Given the description of an element on the screen output the (x, y) to click on. 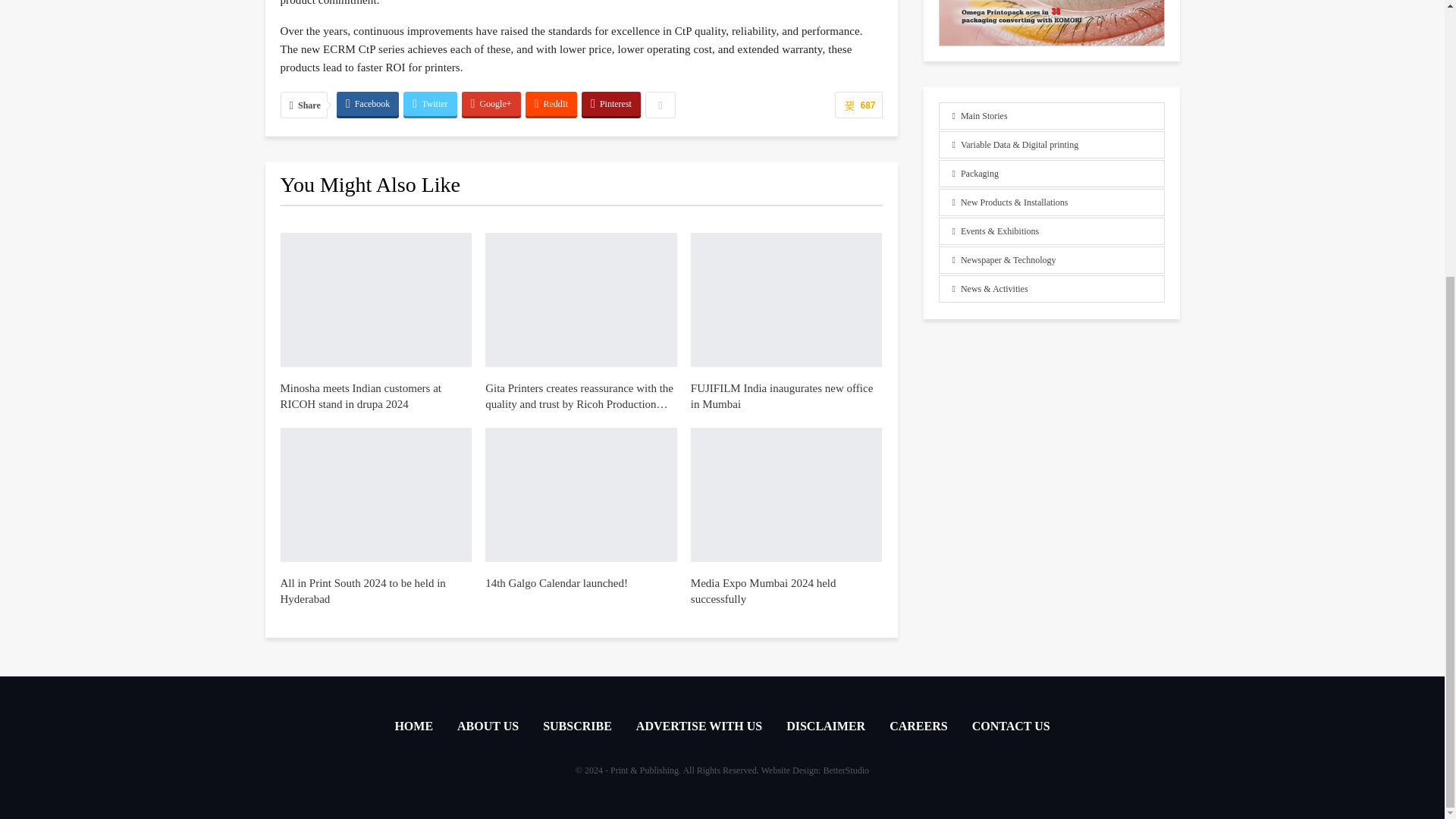
14th Galgo Calendar launched! (580, 494)
14th Galgo Calendar launched! (555, 582)
Twitter (430, 103)
All in Print South 2024 to be held in Hyderabad (363, 591)
Minosha meets Indian customers at RICOH stand in drupa 2024 (376, 299)
Facebook (367, 103)
FUJIFILM India inaugurates new office in Mumbai (781, 396)
All in Print South 2024 to be held in Hyderabad (376, 494)
Media Expo Mumbai 2024 held successfully (762, 591)
ReddIt (551, 103)
Media Expo Mumbai 2024 held successfully (786, 494)
FUJIFILM India inaugurates new office in Mumbai (786, 299)
Minosha meets Indian customers at RICOH stand in drupa 2024 (361, 396)
